Given the description of an element on the screen output the (x, y) to click on. 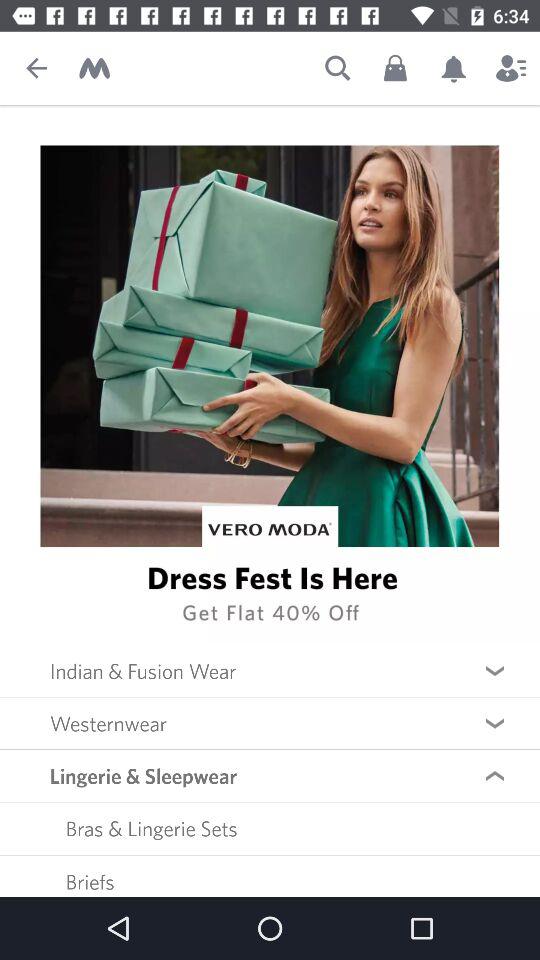
home screen (94, 68)
